Given the description of an element on the screen output the (x, y) to click on. 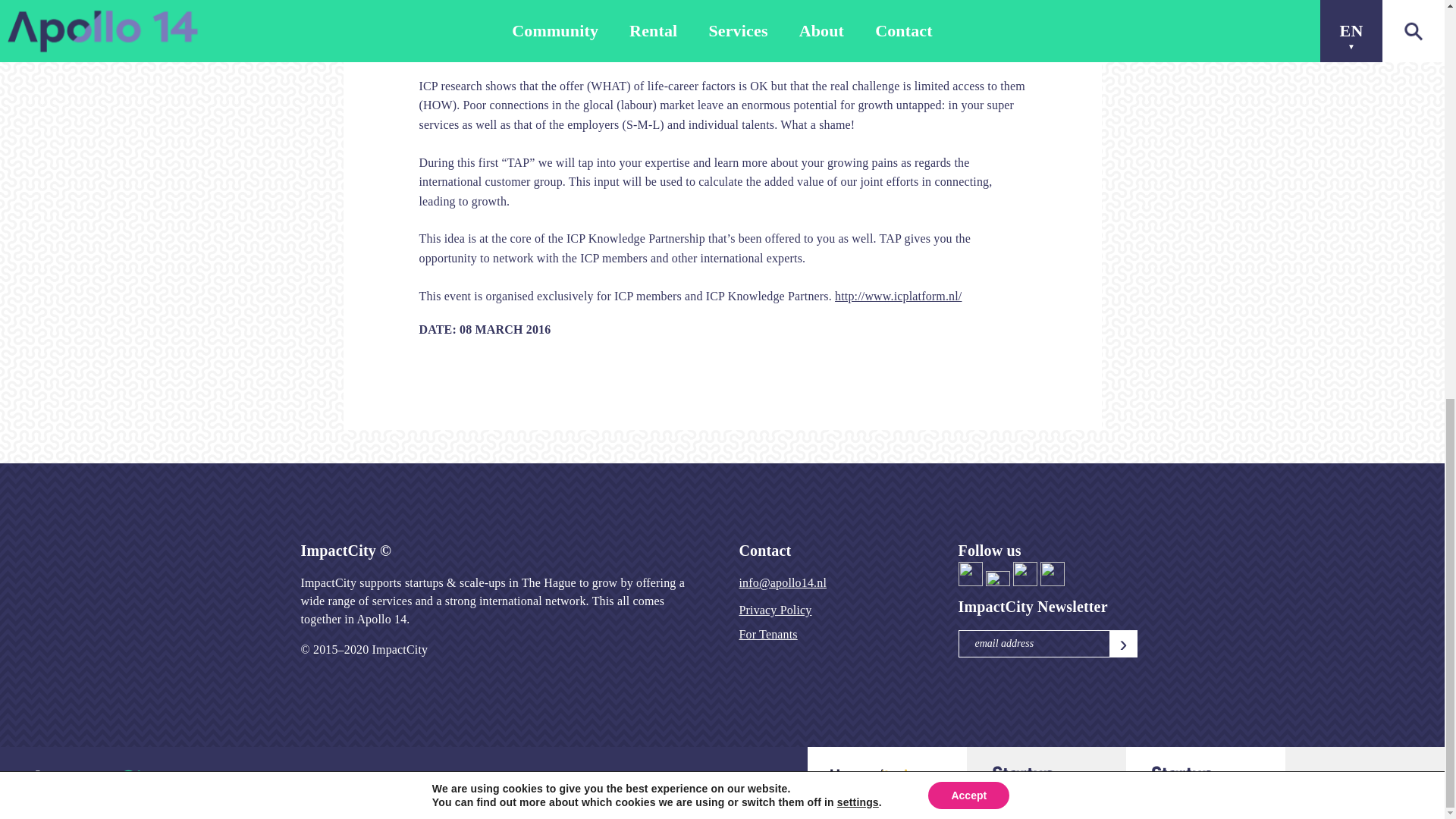
Accept (968, 18)
Privacy Policy (774, 609)
For Tenants (767, 634)
settings (858, 25)
